Given the description of an element on the screen output the (x, y) to click on. 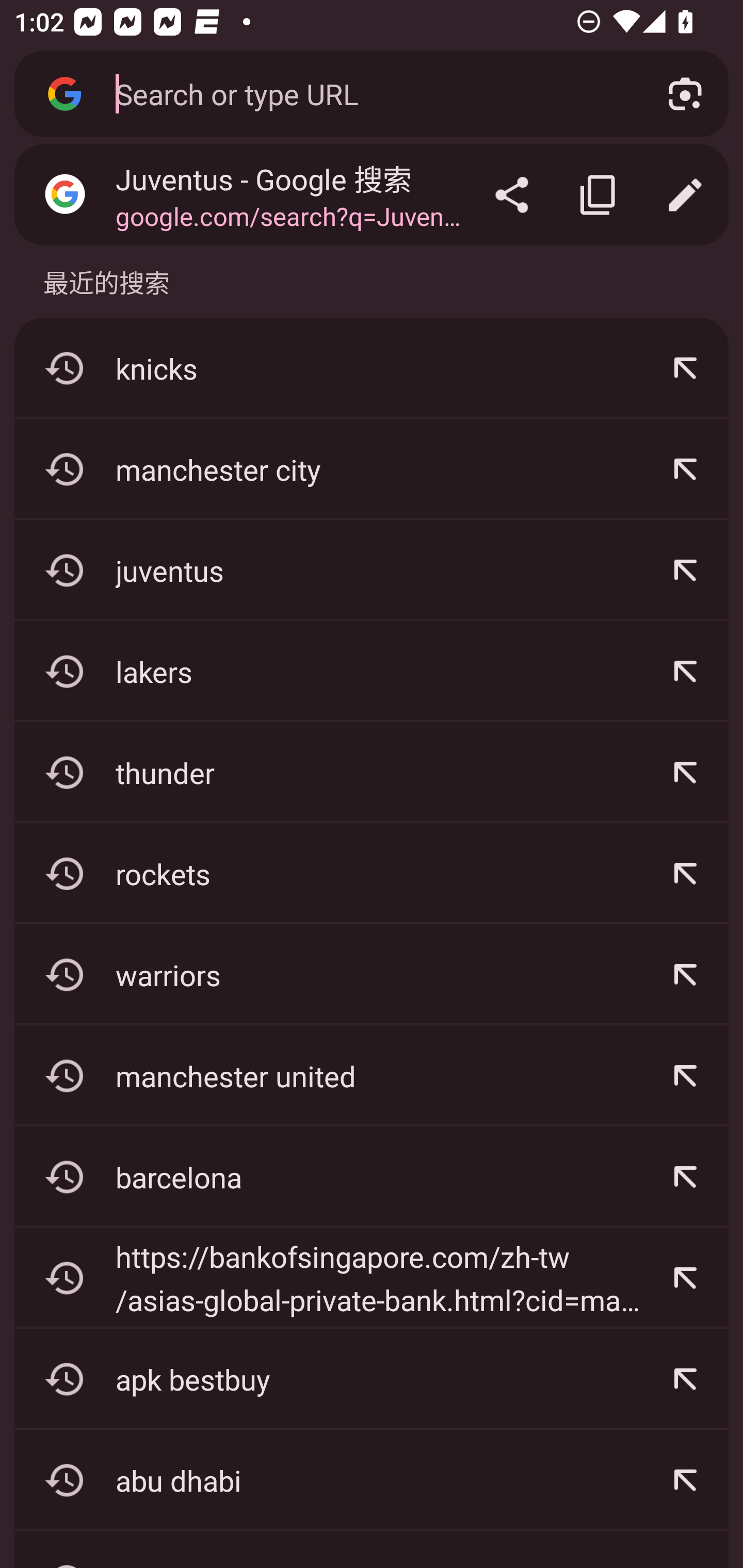
Search with your camera using Google Lens (684, 93)
Search or type URL (367, 92)
Share… (511, 195)
Copy link (598, 195)
Edit (684, 195)
knicks Refine: knicks (371, 368)
Refine: knicks (684, 368)
manchester city Refine: manchester city (371, 469)
Refine: manchester city (684, 469)
juventus Refine: juventus (371, 570)
Refine: juventus (684, 570)
lakers Refine: lakers (371, 671)
Refine: lakers (684, 671)
thunder Refine: thunder (371, 772)
Refine: thunder (684, 772)
rockets Refine: rockets (371, 873)
Refine: rockets (684, 873)
warriors Refine: warriors (371, 974)
Refine: warriors (684, 974)
manchester united Refine: manchester united (371, 1075)
Refine: manchester united (684, 1075)
barcelona Refine: barcelona (371, 1176)
Refine: barcelona (684, 1176)
apk bestbuy Refine: apk bestbuy (371, 1379)
Refine: apk bestbuy (684, 1379)
abu dhabi Refine: abu dhabi (371, 1480)
Refine: abu dhabi (684, 1480)
